Given the description of an element on the screen output the (x, y) to click on. 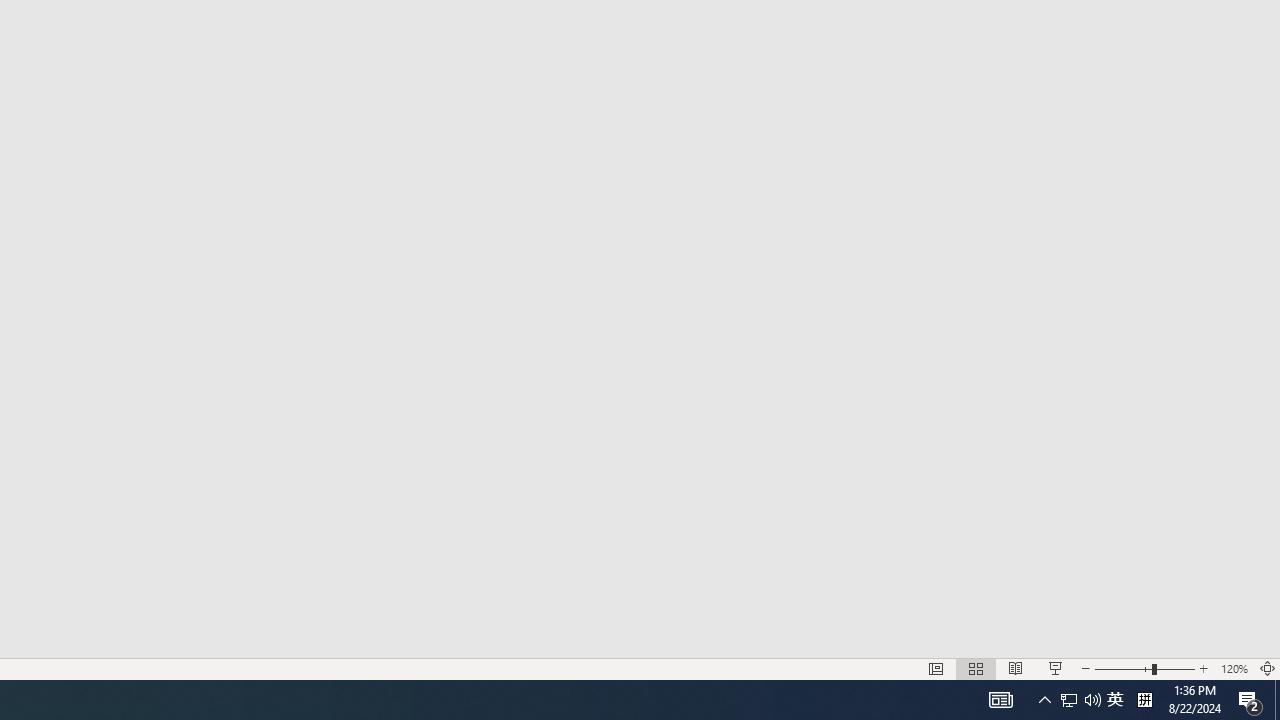
Zoom 120% (1234, 668)
